Given the description of an element on the screen output the (x, y) to click on. 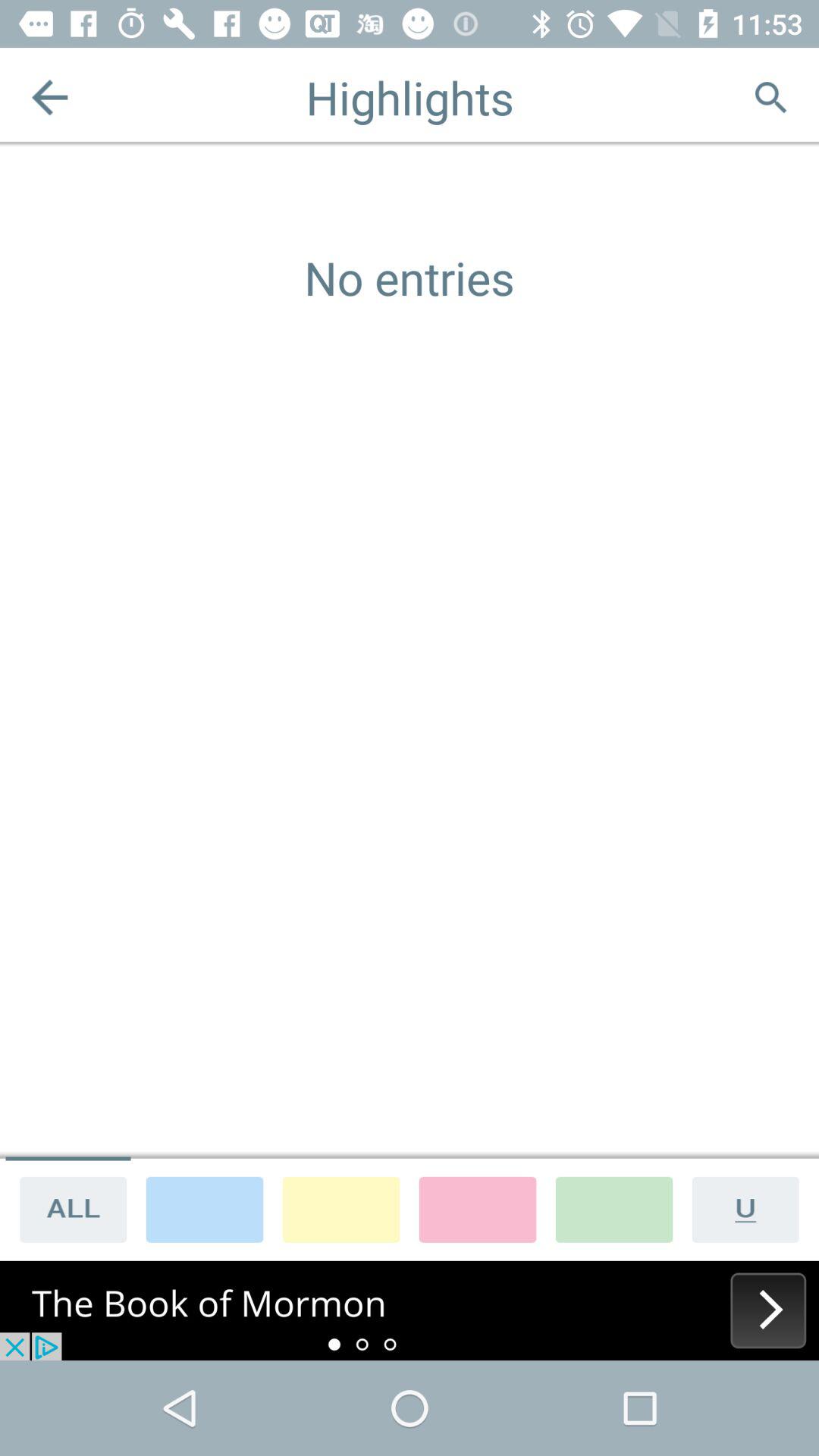
next display (409, 1310)
